Given the description of an element on the screen output the (x, y) to click on. 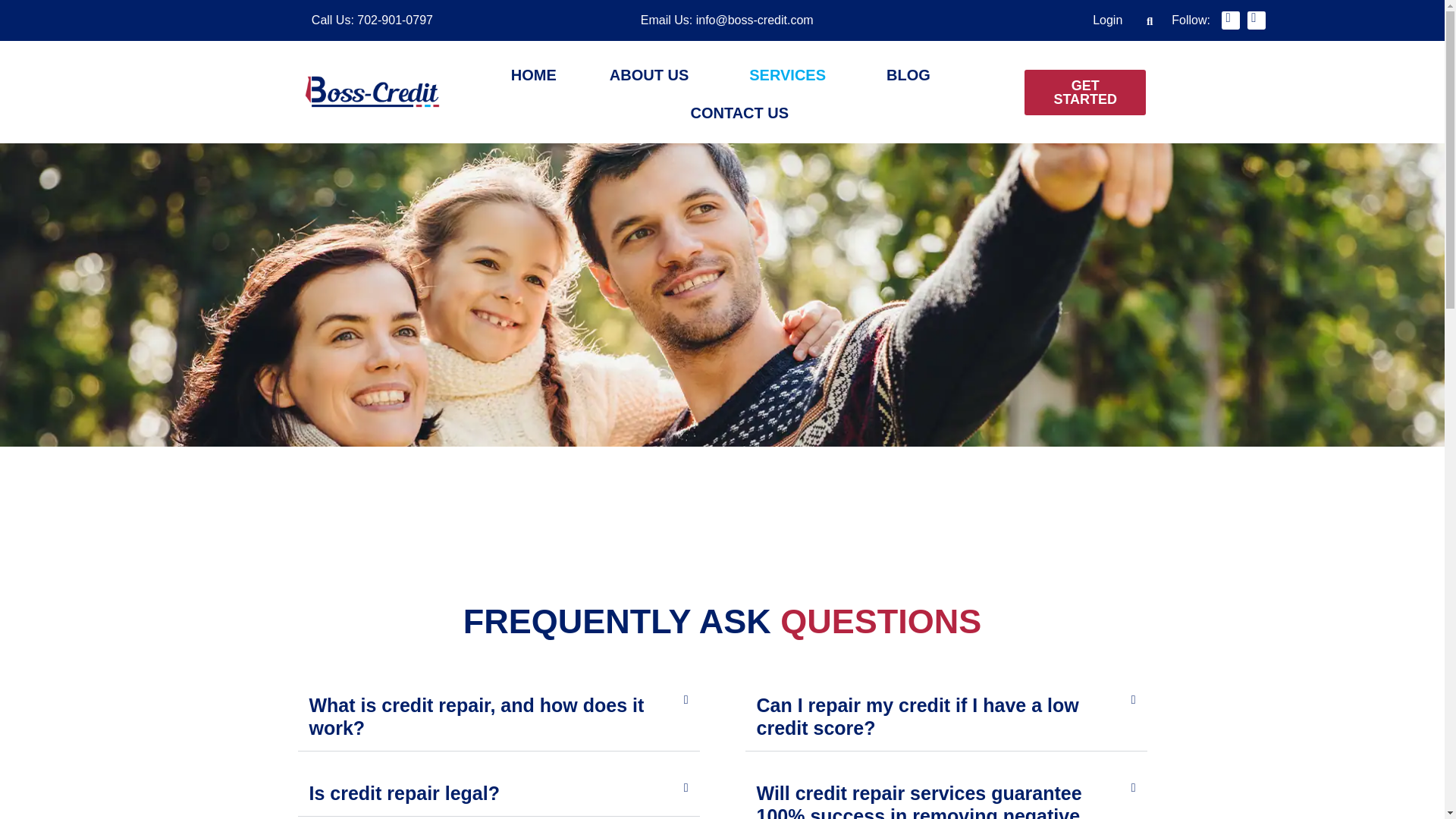
Instagram (1256, 20)
ABOUT US (652, 75)
Login (1107, 19)
CONTACT US (739, 112)
SERVICES (791, 75)
Is credit repair legal? (404, 792)
HOME (533, 75)
Facebook (1230, 20)
What is credit repair, and how does it work? (476, 716)
Call Us: 702-901-0797 (371, 19)
BLOG (908, 75)
GET STARTED (1085, 92)
